Given the description of an element on the screen output the (x, y) to click on. 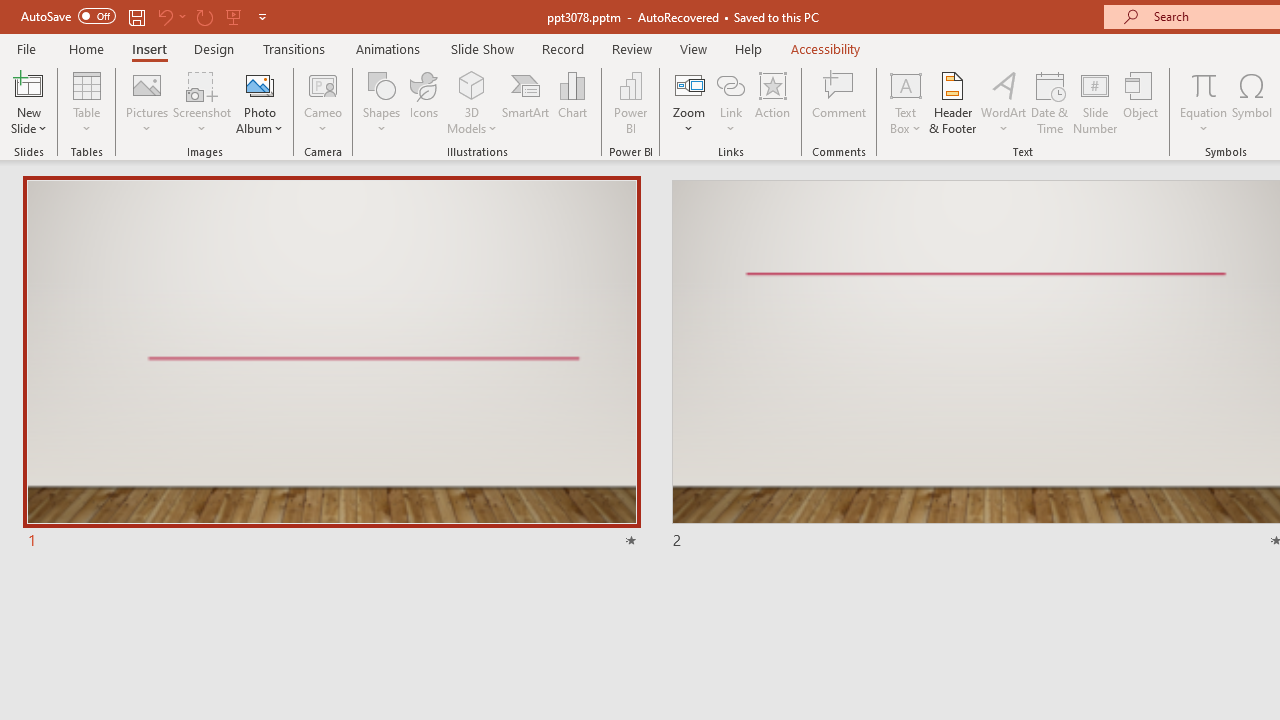
Comment (839, 102)
Symbol... (1252, 102)
